Given the description of an element on the screen output the (x, y) to click on. 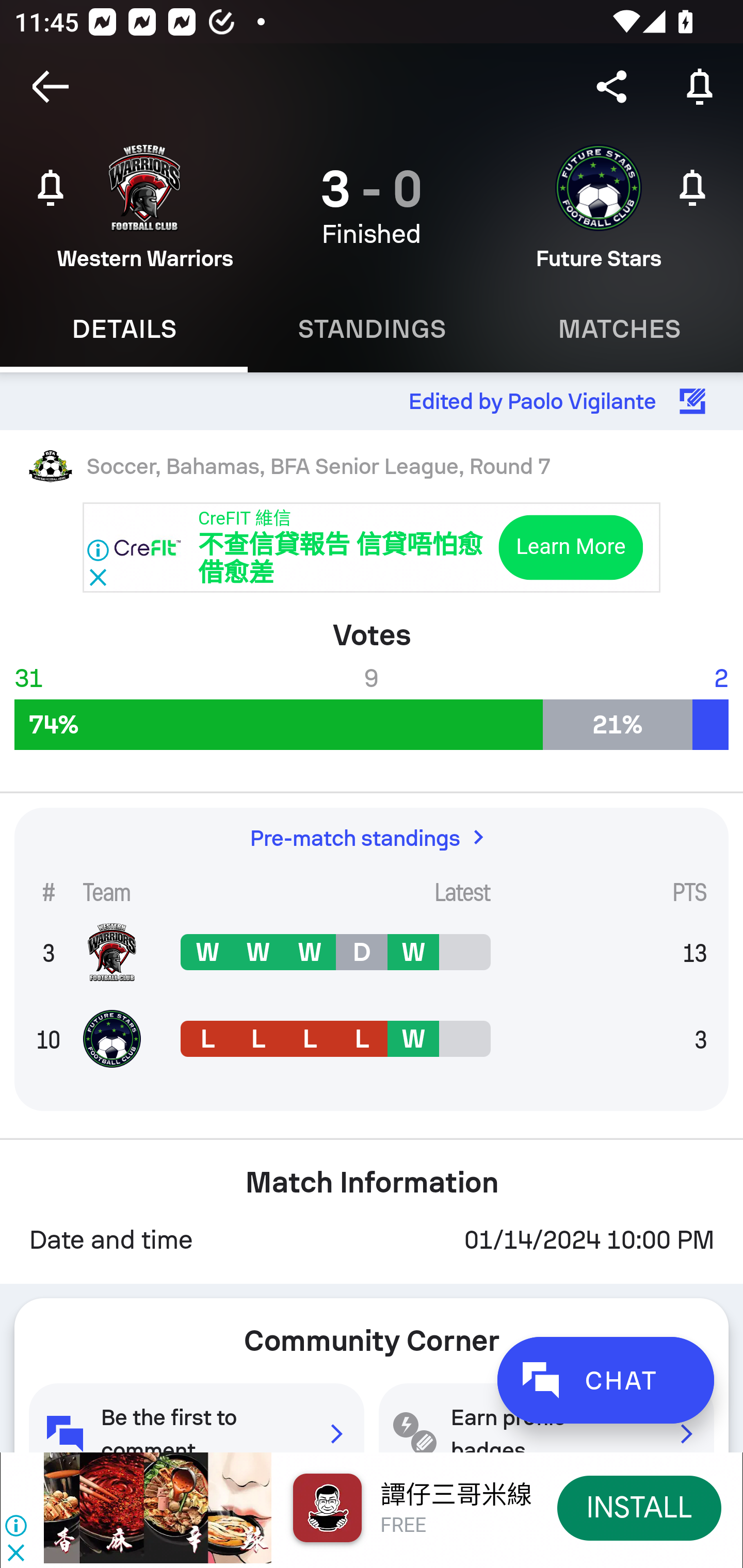
Navigate up (50, 86)
Standings STANDINGS (371, 329)
Matches MATCHES (619, 329)
Edited by Paolo Vigilante (371, 401)
Soccer, Bahamas, BFA Senior League, Round 7 (371, 465)
CHAT (605, 1380)
INSTALL (639, 1507)
譚仔三哥米線 (455, 1494)
